Given the description of an element on the screen output the (x, y) to click on. 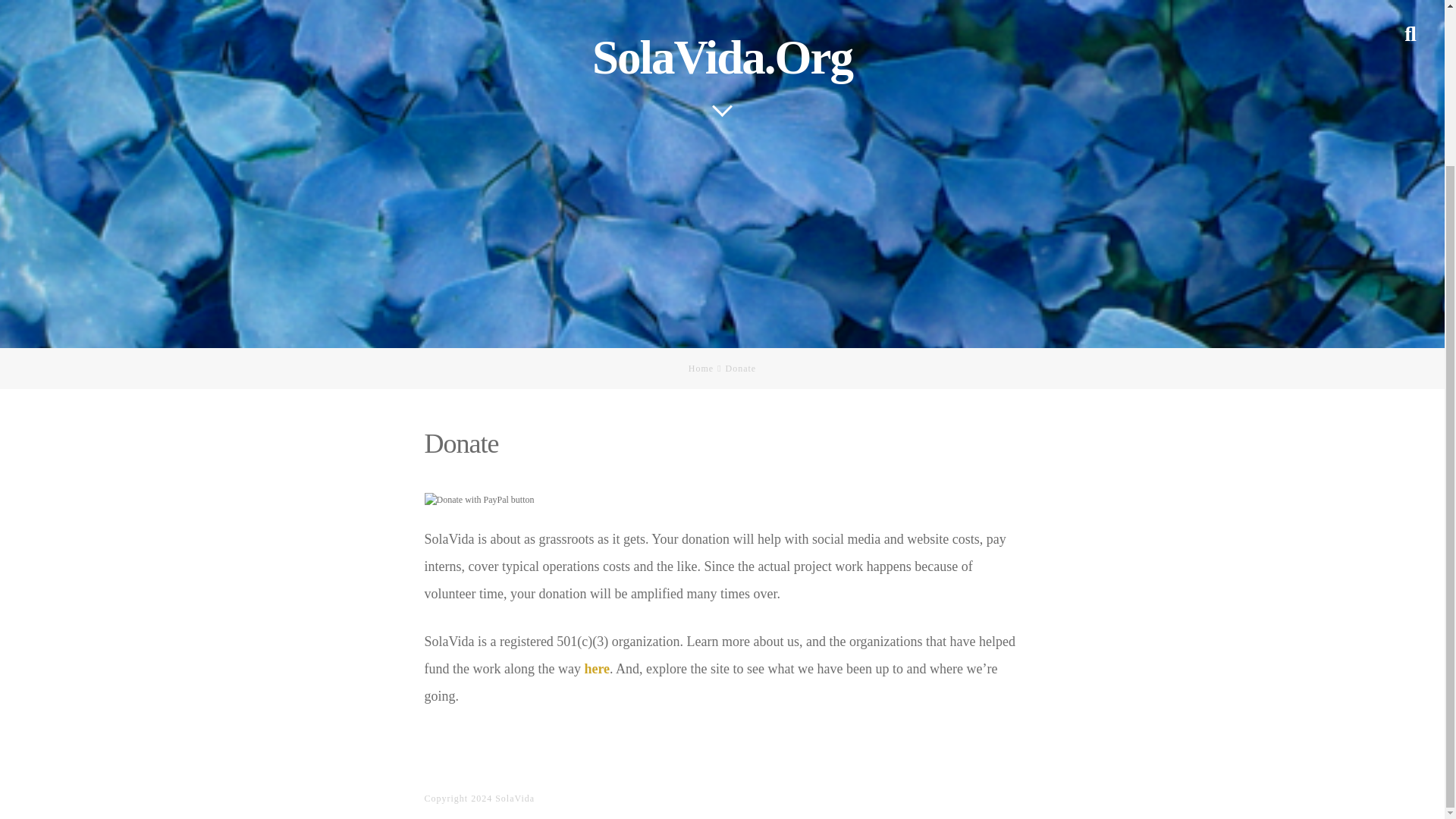
Home (700, 368)
PayPal - The safer, easier way to pay online! (479, 499)
here (596, 668)
SolaVida.Org (721, 57)
